Given the description of an element on the screen output the (x, y) to click on. 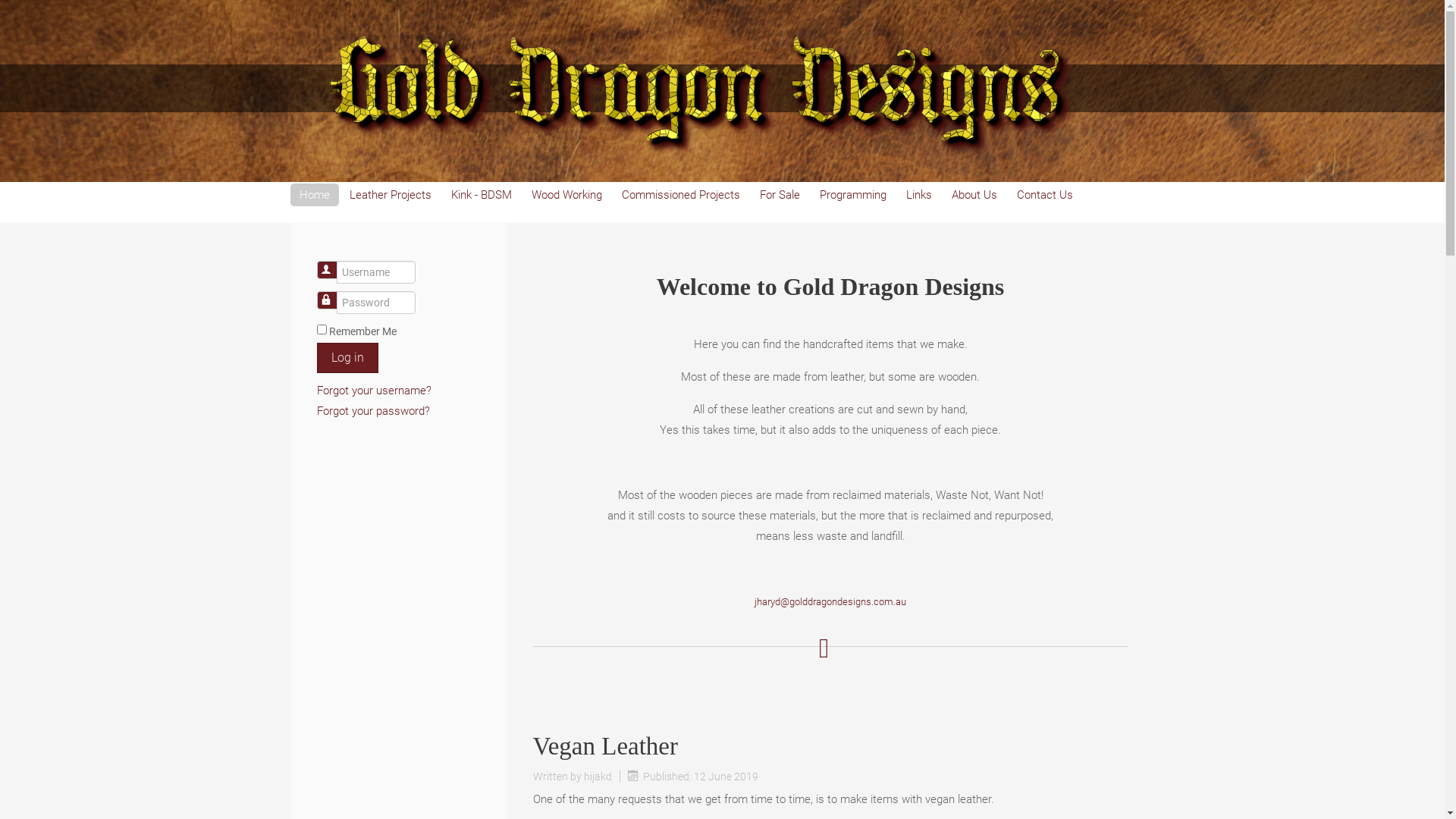
Links Element type: text (918, 194)
Contact Us Element type: text (1044, 194)
Forgot your username? Element type: text (373, 390)
Home Element type: text (313, 194)
About Us Element type: text (973, 194)
Wood Working Element type: text (565, 194)
Log in Element type: text (347, 357)
Commissioned Projects Element type: text (680, 194)
jharyd@golddragondesigns.com.au Element type: text (830, 601)
Instagram Element type: hover (1120, 41)
Forgot your password? Element type: text (372, 410)
Facebook Element type: hover (1080, 41)
For Sale Element type: text (779, 194)
Programming Element type: text (851, 194)
Vegan Leather Element type: text (604, 745)
Leather Projects Element type: text (389, 194)
Kink - BDSM Element type: text (480, 194)
